Given the description of an element on the screen output the (x, y) to click on. 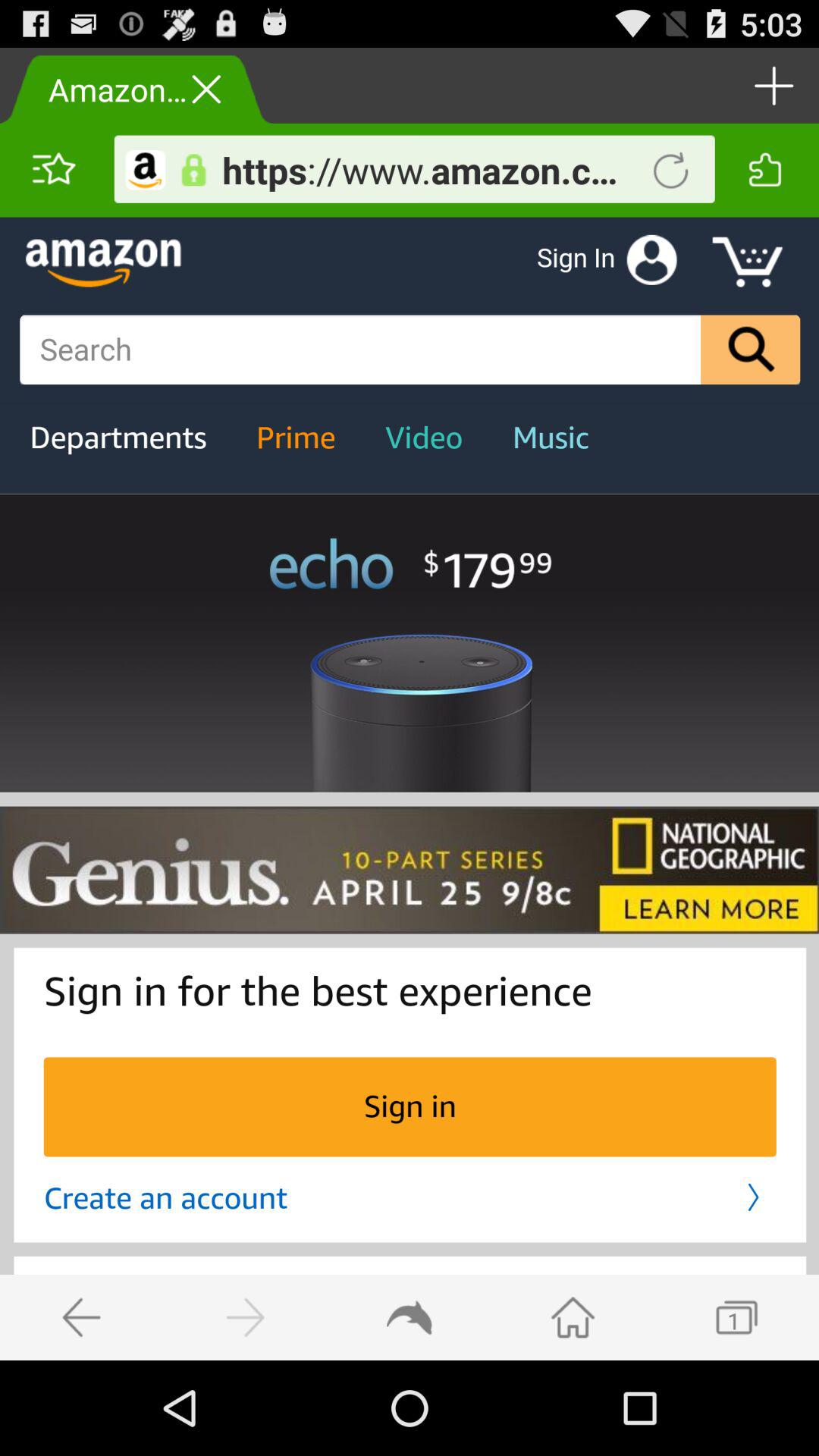
add new tab (771, 85)
